Given the description of an element on the screen output the (x, y) to click on. 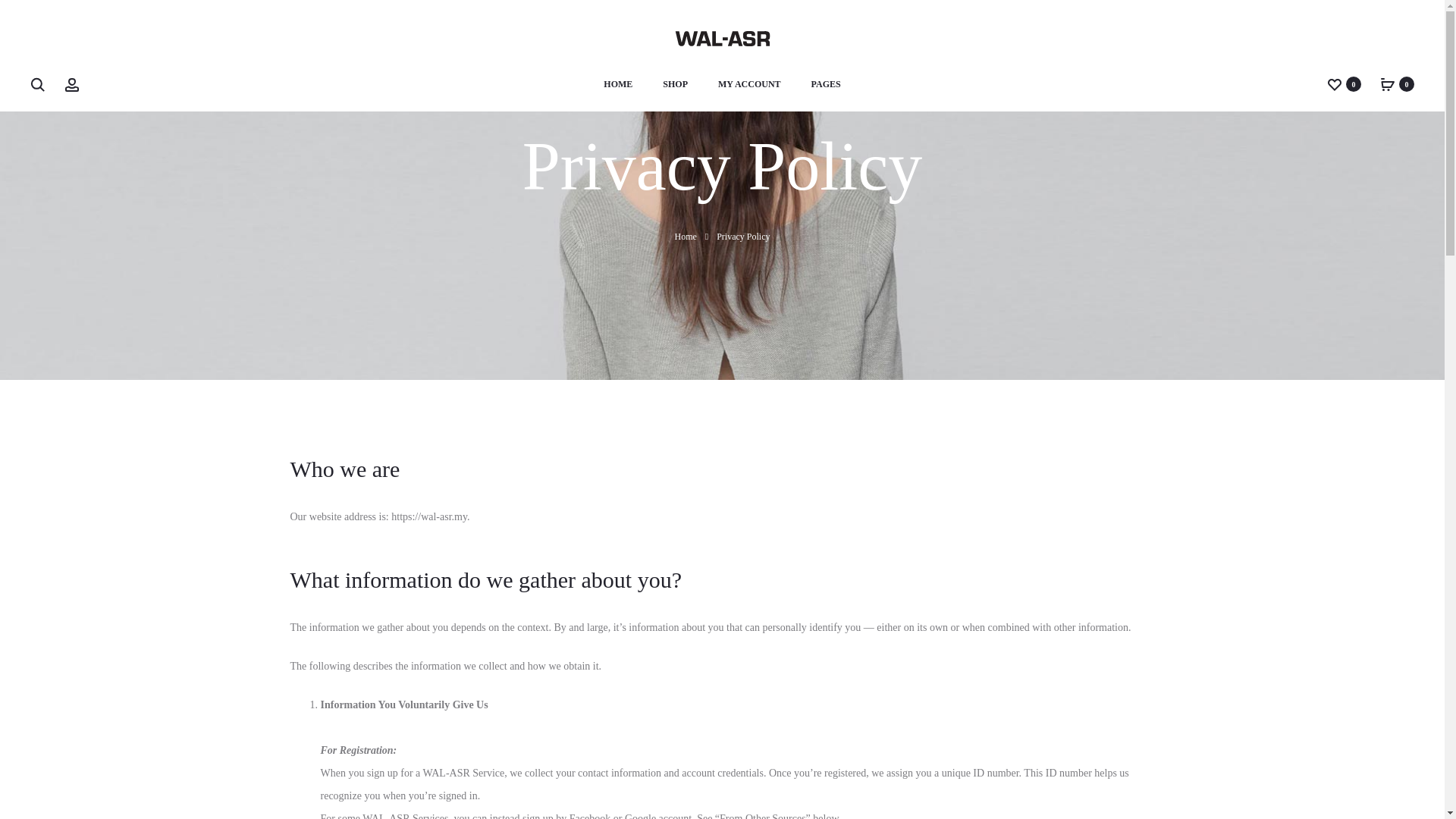
Account (72, 83)
0 (1334, 83)
PAGES (825, 85)
SHOP (674, 85)
HOME (617, 85)
Home (684, 235)
Search (37, 83)
0 (1387, 83)
MY ACCOUNT (748, 85)
